Given the description of an element on the screen output the (x, y) to click on. 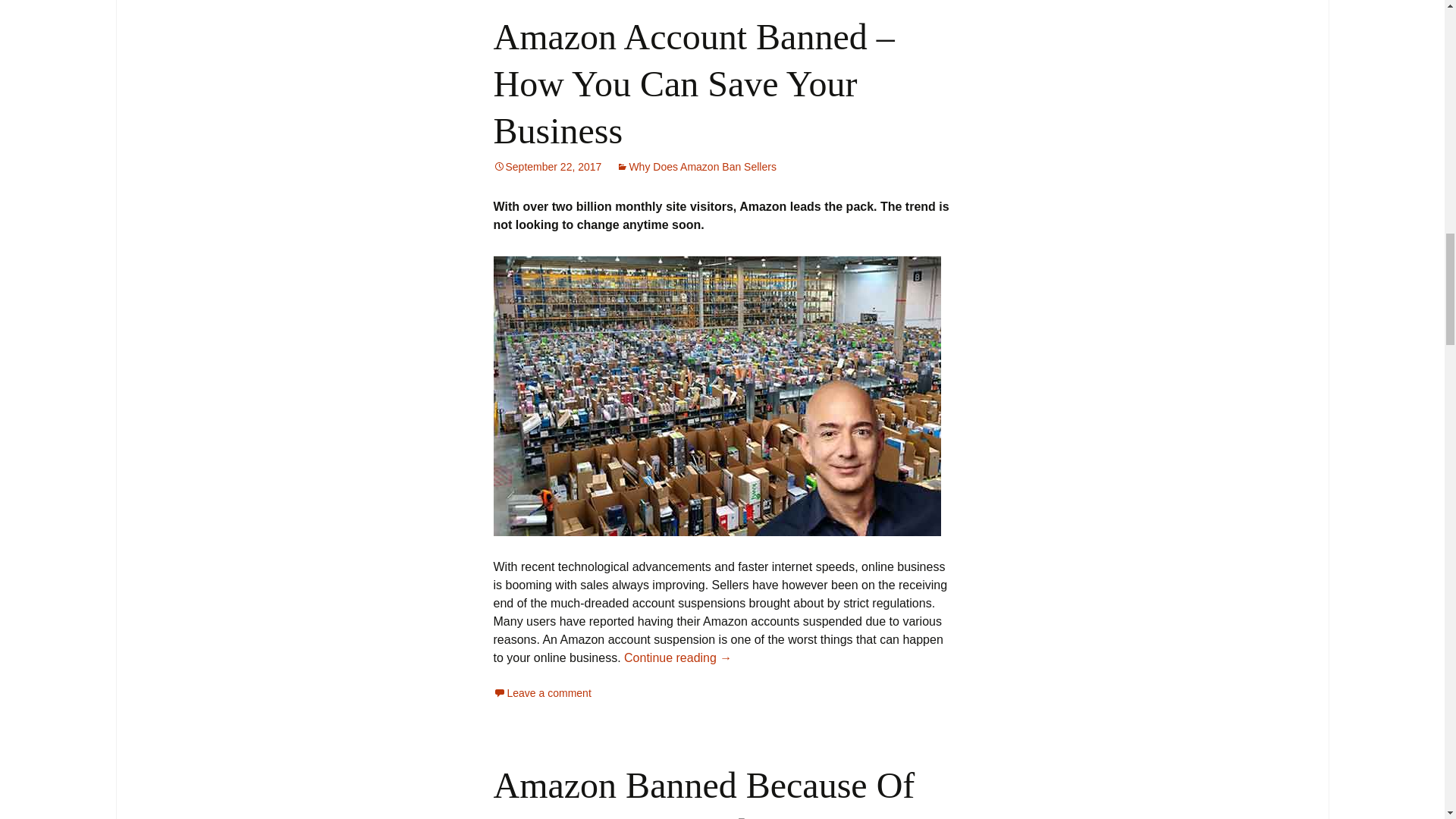
Why Does Amazon Ban Sellers (695, 166)
Amazon Banned Because Of Inauthentic Goods (703, 791)
Leave a comment (542, 693)
September 22, 2017 (547, 166)
